Given the description of an element on the screen output the (x, y) to click on. 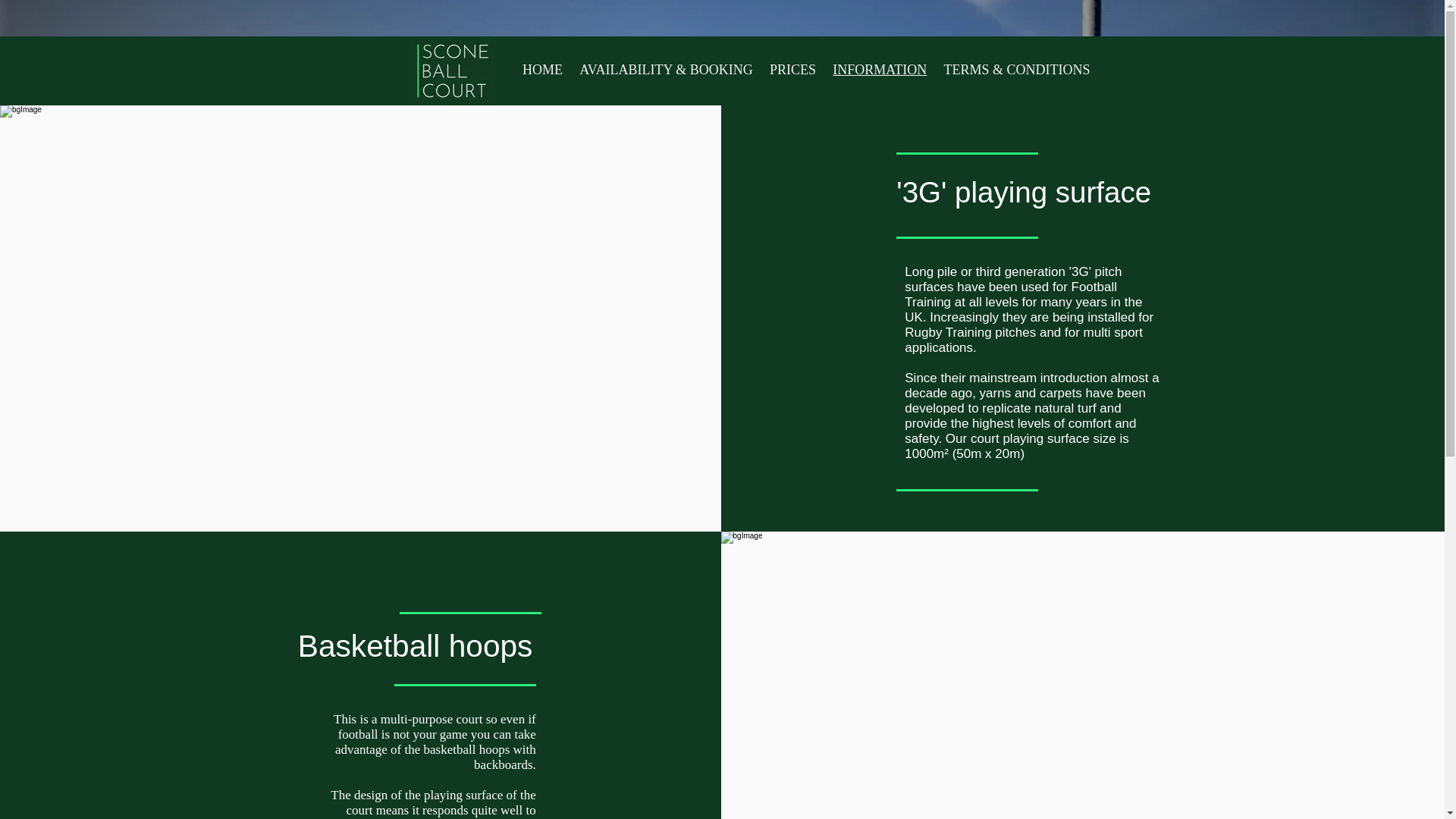
HOME (541, 69)
PRICES (792, 69)
INFORMATION (879, 69)
